Given the description of an element on the screen output the (x, y) to click on. 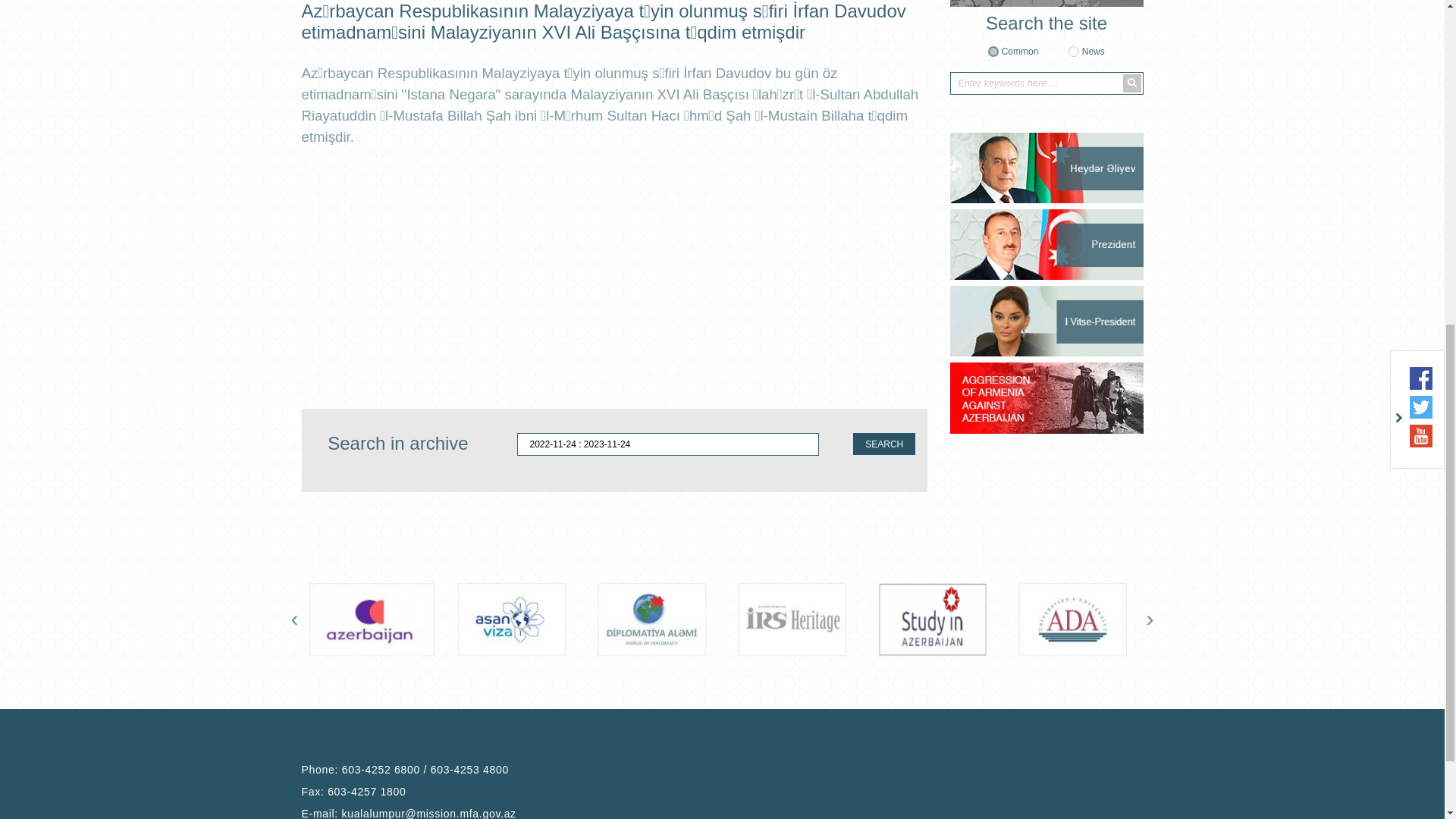
NEWS Element type: text (1004, 124)
STATEMENTS Element type: text (541, 534)
ABOUT AZERBAIJAN Element type: text (435, 124)
ANNOUNCEMENTS Element type: text (686, 534)
CONTACTS Element type: text (1092, 124)
NEWS Element type: text (396, 534)
SPEECHES Element type: text (831, 534)
BILATERAL RELATIONS Element type: text (684, 124)
EMBASSY Element type: text (556, 124)
CONSULAR SERVICE AND VISA Element type: text (866, 124)
